Given the description of an element on the screen output the (x, y) to click on. 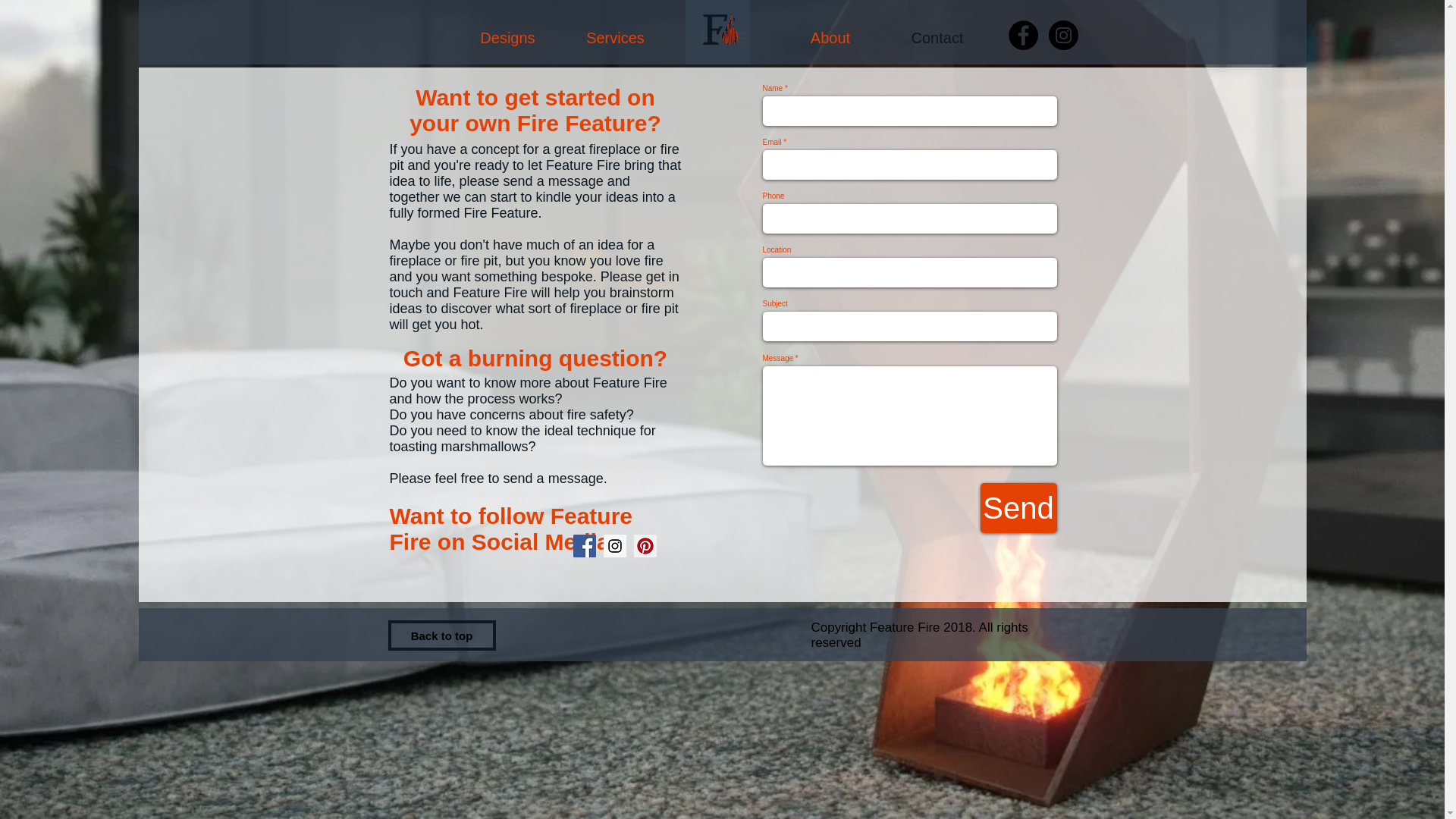
Designs (506, 37)
HOME (722, 37)
Send (1018, 508)
Back to top (442, 634)
About (829, 37)
Contact (937, 37)
Services (614, 37)
